Given the description of an element on the screen output the (x, y) to click on. 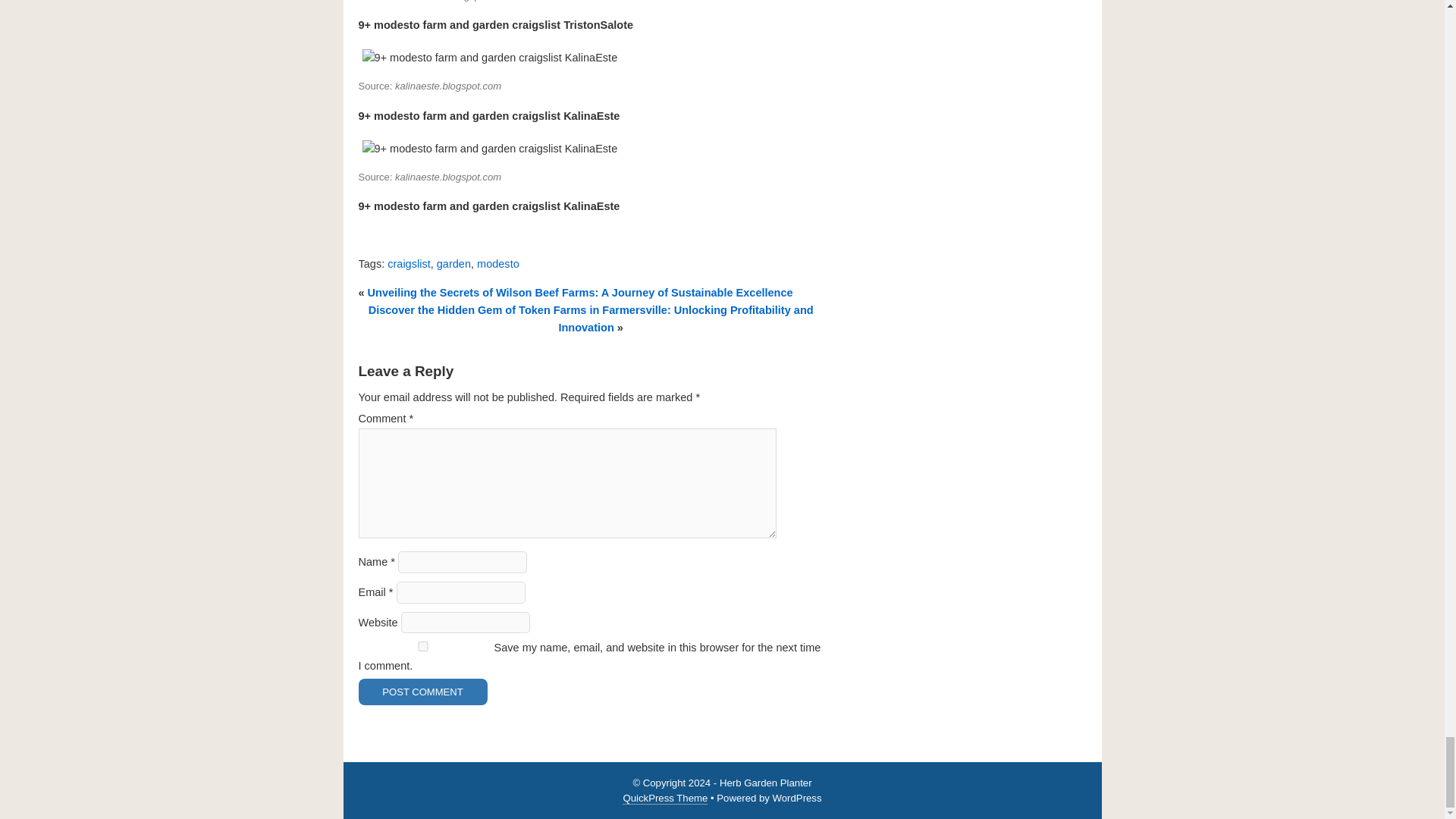
craigslist (408, 263)
modesto (498, 263)
Post Comment (422, 691)
yes (422, 646)
Post Comment (422, 691)
garden (453, 263)
